Given the description of an element on the screen output the (x, y) to click on. 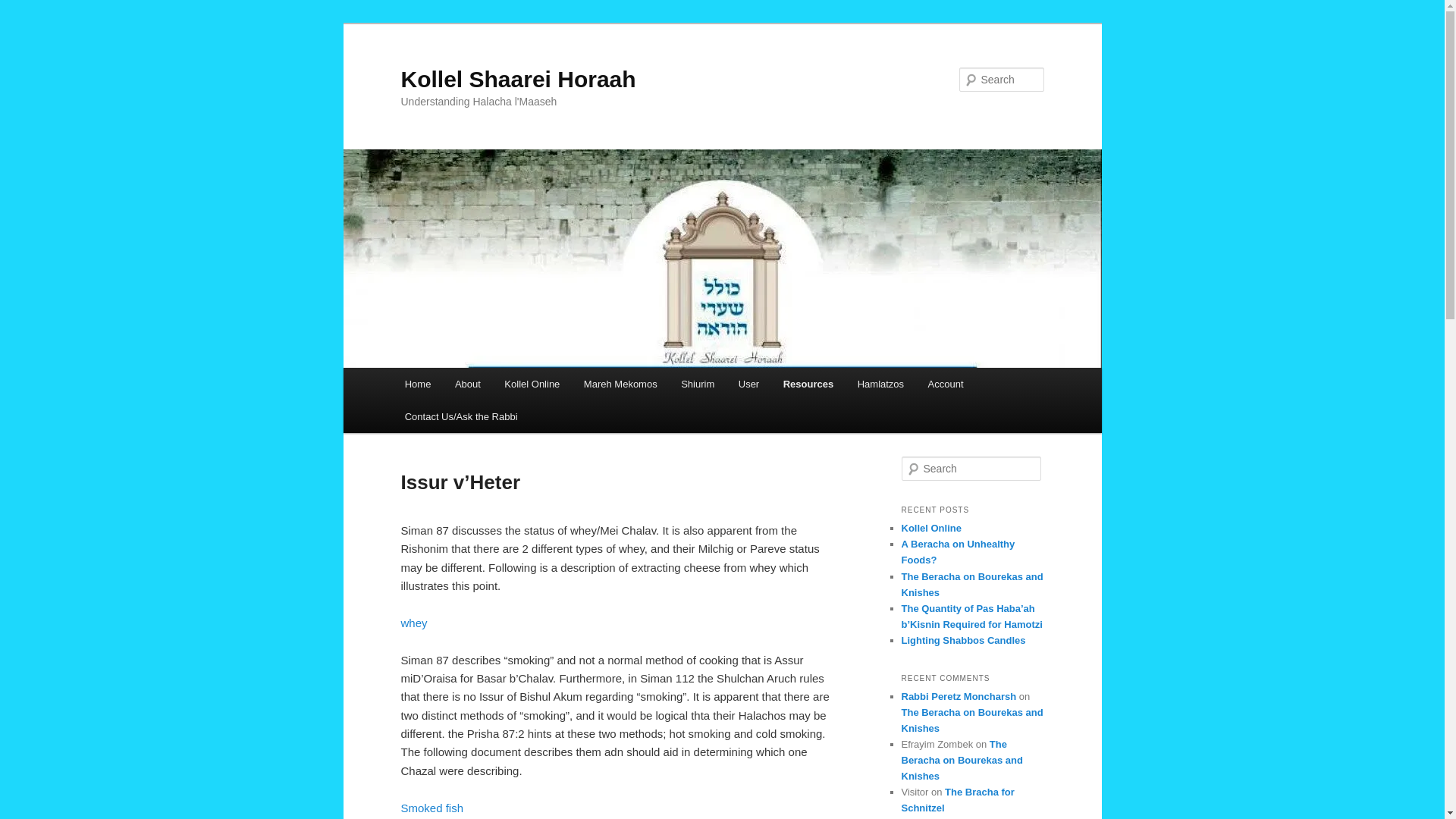
Hamlatzos (880, 383)
Resources (808, 383)
Account (945, 383)
Smoked fish (431, 807)
Search (21, 11)
User (748, 383)
Search (24, 8)
Kollel Online (532, 383)
Kollel Shaarei Horaah (517, 78)
Mareh Mekomos (620, 383)
whey (413, 622)
Shiurim (697, 383)
Home (417, 383)
About (467, 383)
